Given the description of an element on the screen output the (x, y) to click on. 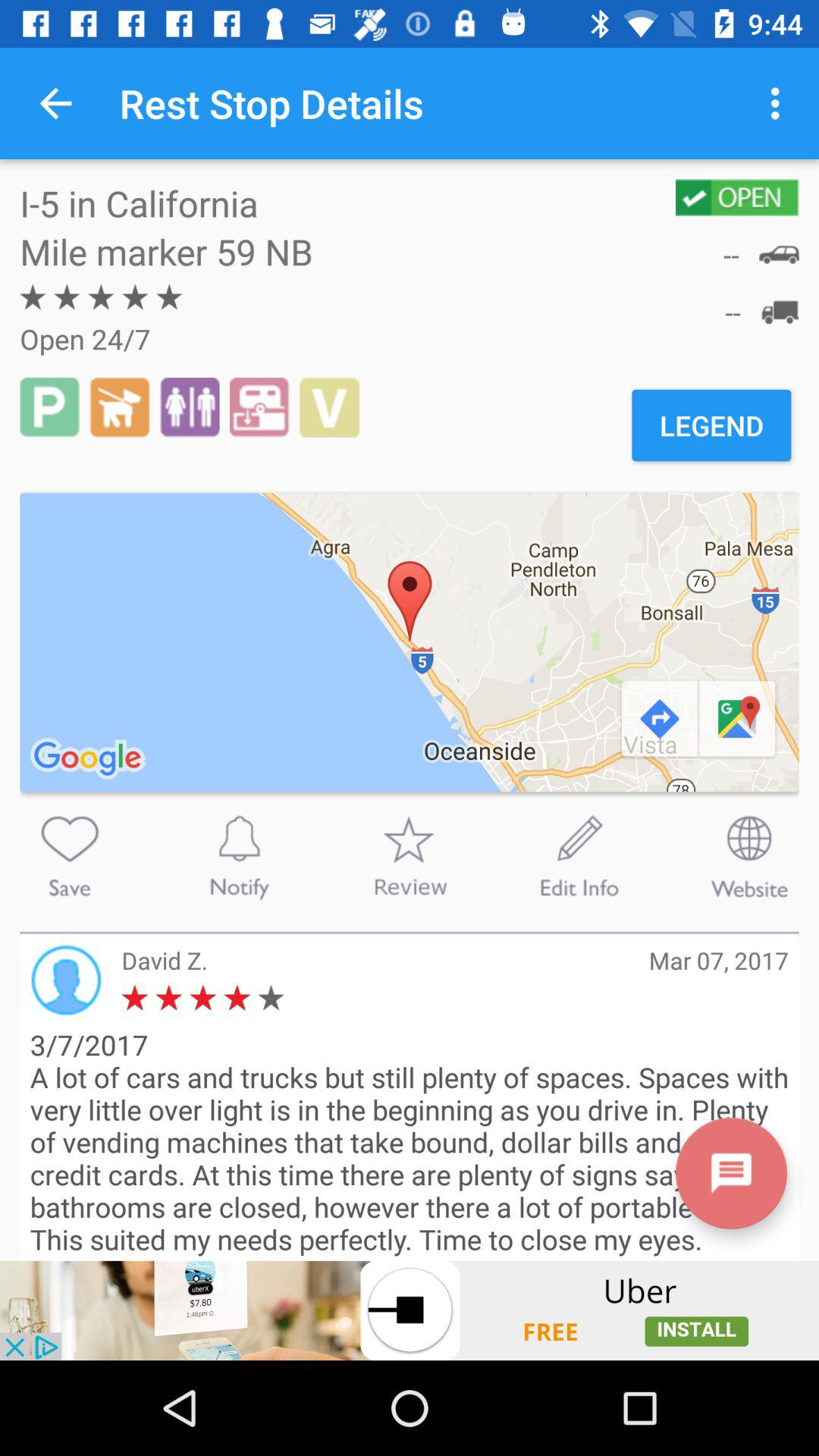
save the location (69, 856)
